Given the description of an element on the screen output the (x, y) to click on. 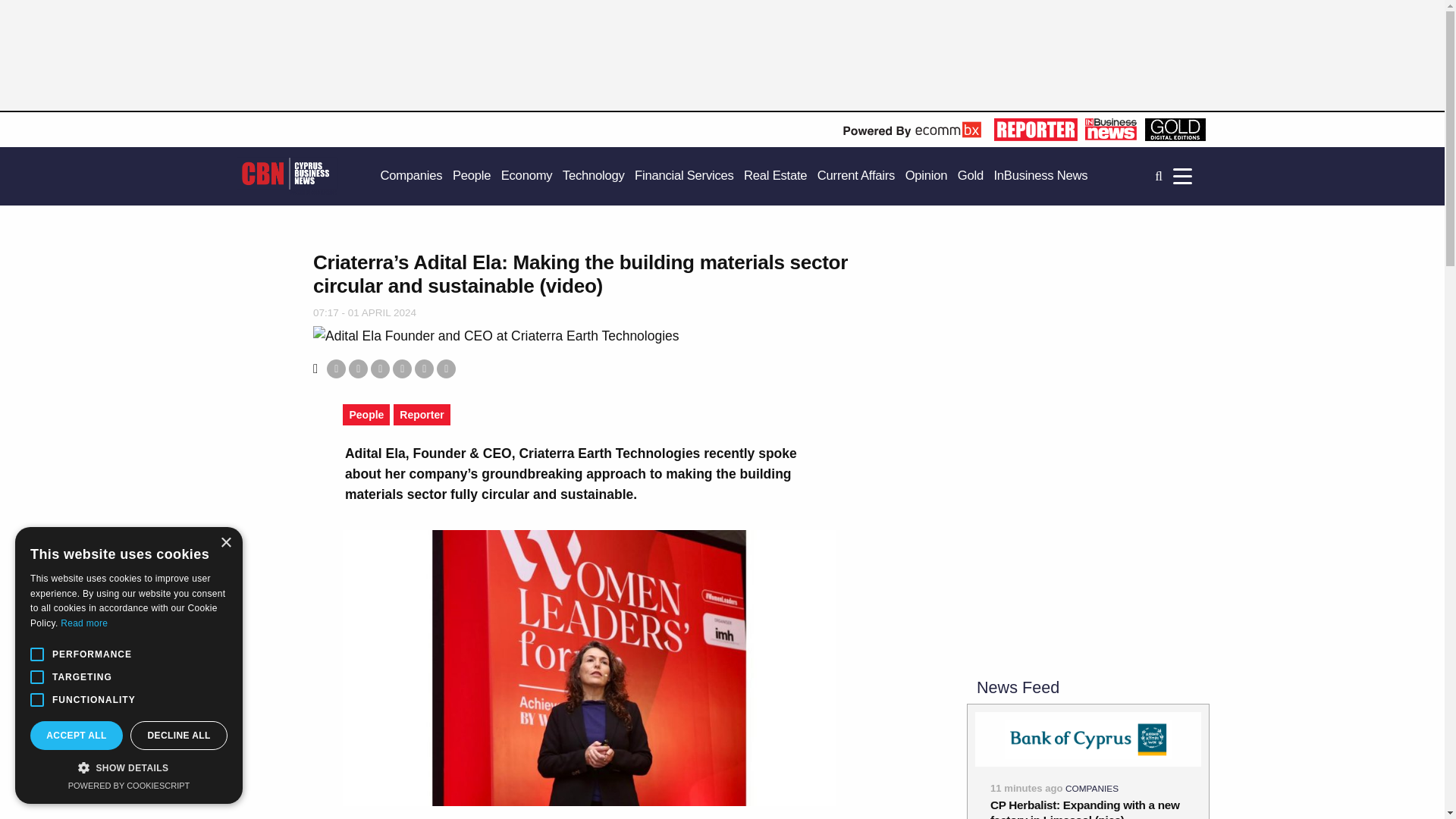
Current Affairs (855, 176)
Opinion (926, 176)
Consent Management Platform (129, 785)
InBusiness News (1040, 176)
Adital Ela Founder and CEO at Criaterra Earth Technologies (496, 335)
Financial Services (684, 176)
Economy (526, 176)
3rd party ad content (1088, 557)
People (471, 176)
Real Estate (775, 176)
Gold (970, 176)
Technology (593, 176)
3rd party ad content (1088, 345)
3rd party ad content (549, 62)
Companies (411, 176)
